Given the description of an element on the screen output the (x, y) to click on. 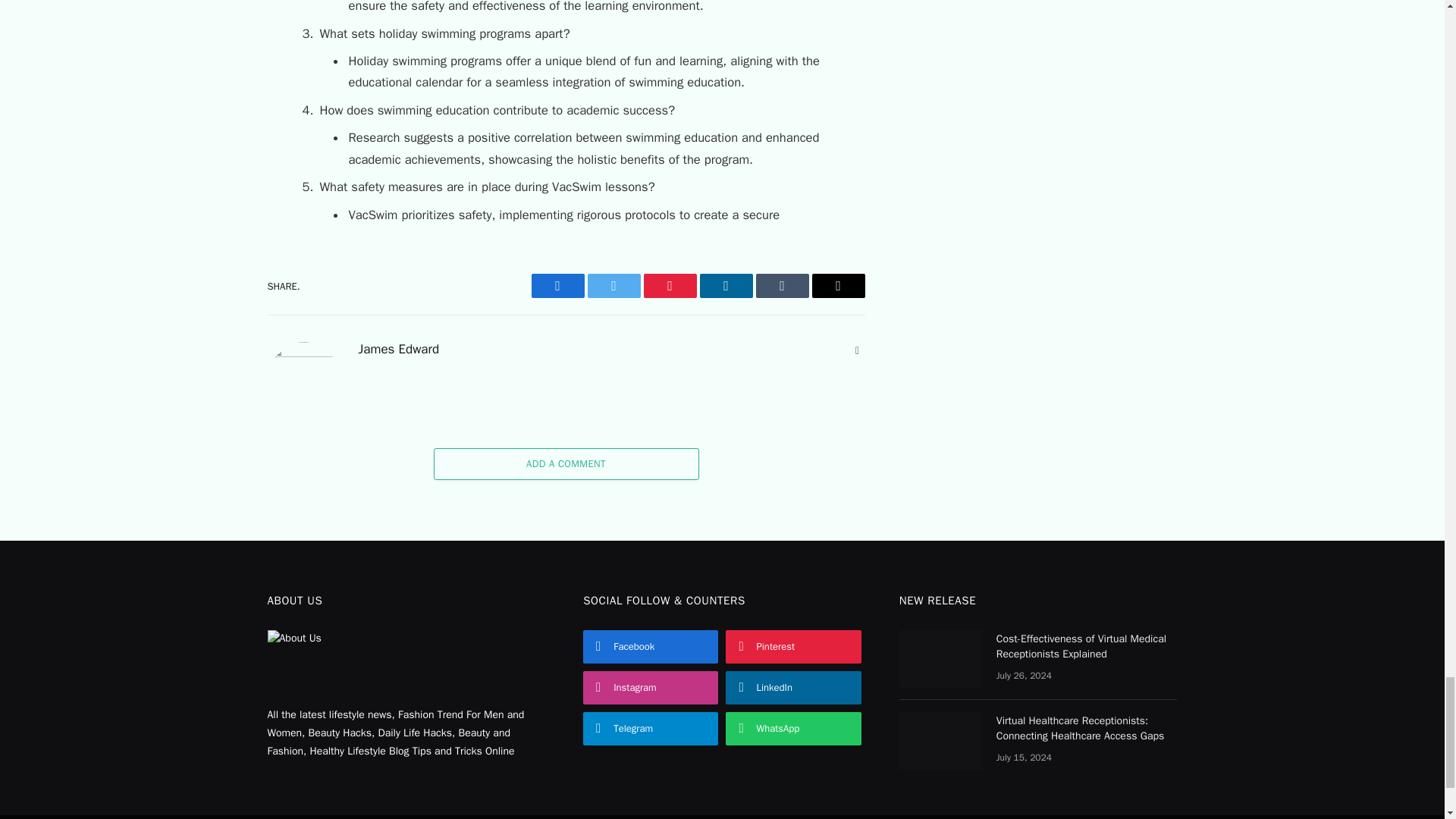
Twitter (613, 285)
Pinterest (669, 285)
Facebook (557, 285)
